Given the description of an element on the screen output the (x, y) to click on. 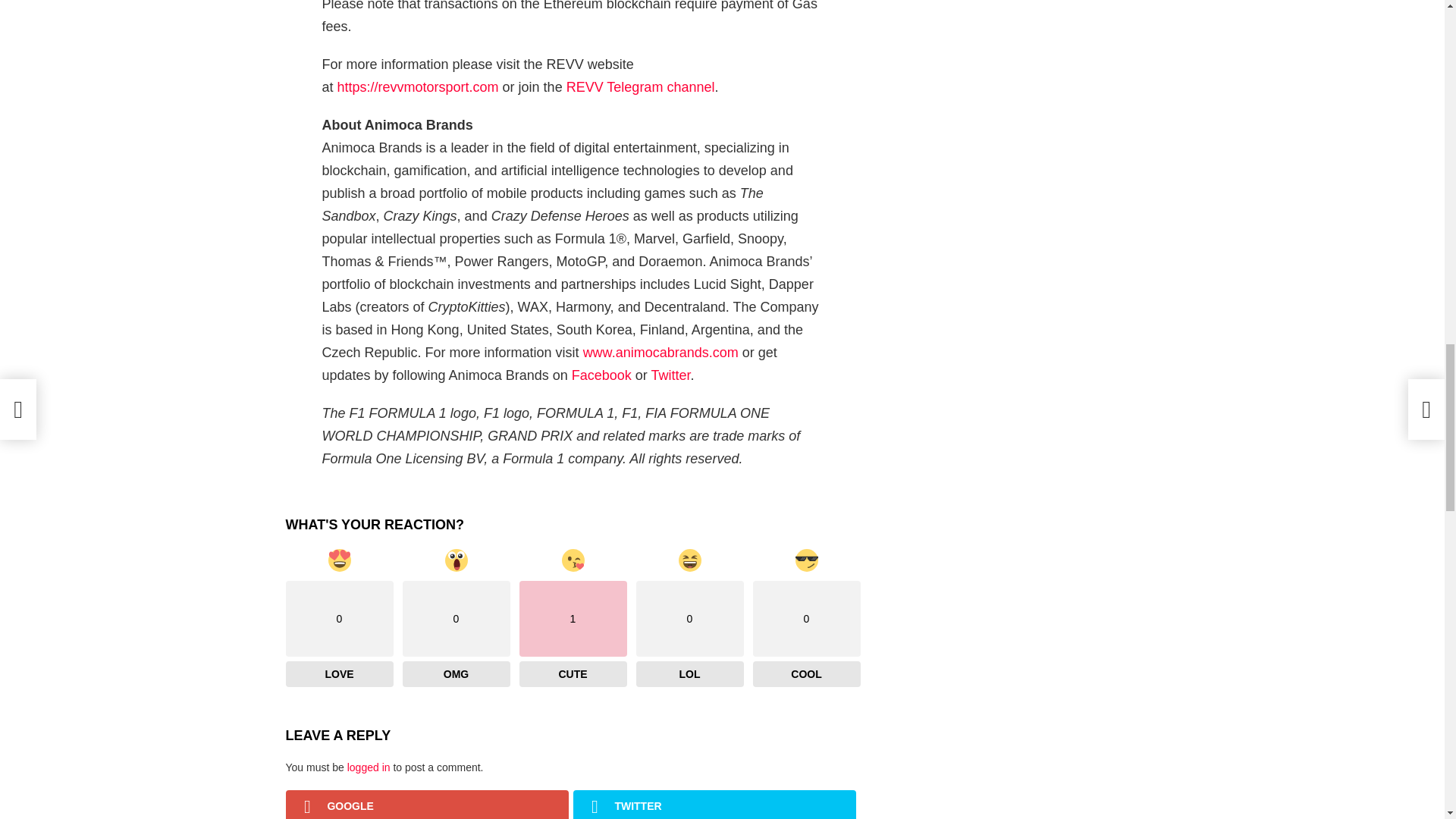
Connect with Twitter (714, 804)
Connect with Google (426, 804)
